Given the description of an element on the screen output the (x, y) to click on. 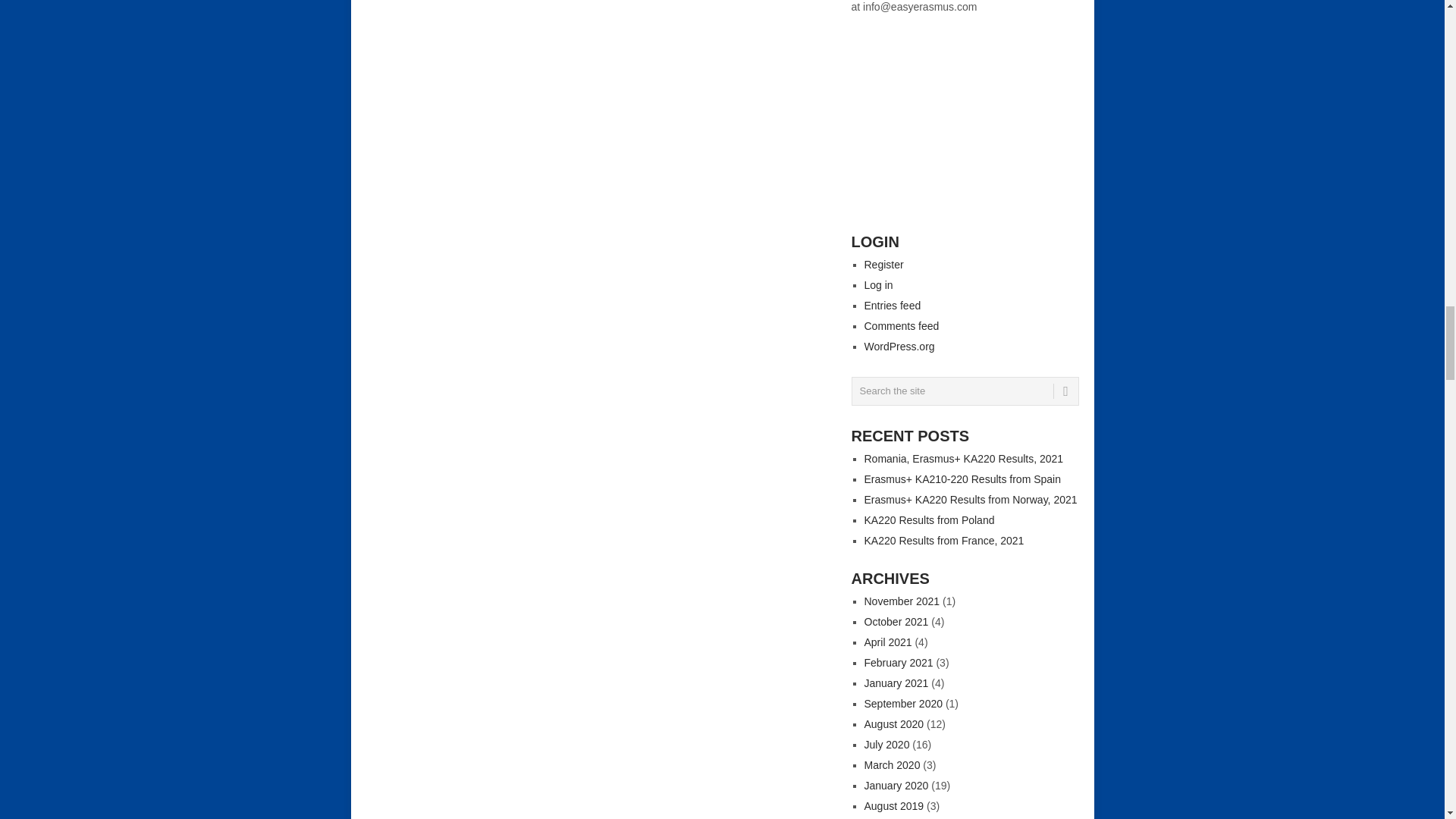
Search the site (964, 390)
Advertisement (964, 112)
